Given the description of an element on the screen output the (x, y) to click on. 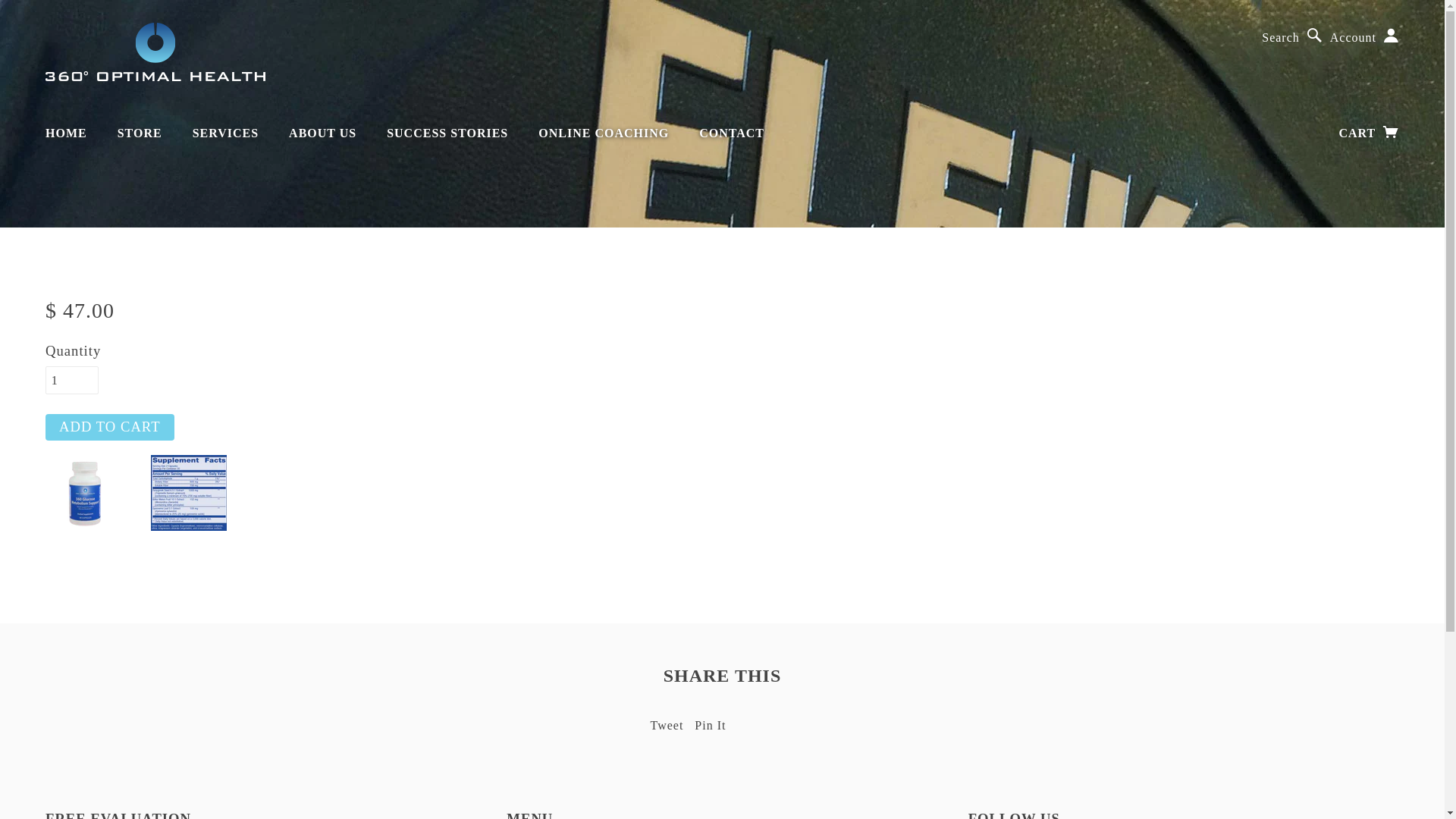
Search Element type: text (1291, 37)
HOME Element type: text (66, 133)
Account Element type: text (1364, 37)
CART Element type: text (1369, 132)
STORE Element type: text (139, 133)
CONTACT Element type: text (731, 133)
Tweet Element type: text (667, 724)
Pin It Element type: text (709, 724)
360 Optimal Health Element type: hover (155, 51)
ONLINE COACHING Element type: text (603, 133)
SERVICES Element type: text (225, 133)
ABOUT US Element type: text (322, 133)
Add to cart Element type: text (109, 427)
SUCCESS STORIES Element type: text (447, 133)
